Given the description of an element on the screen output the (x, y) to click on. 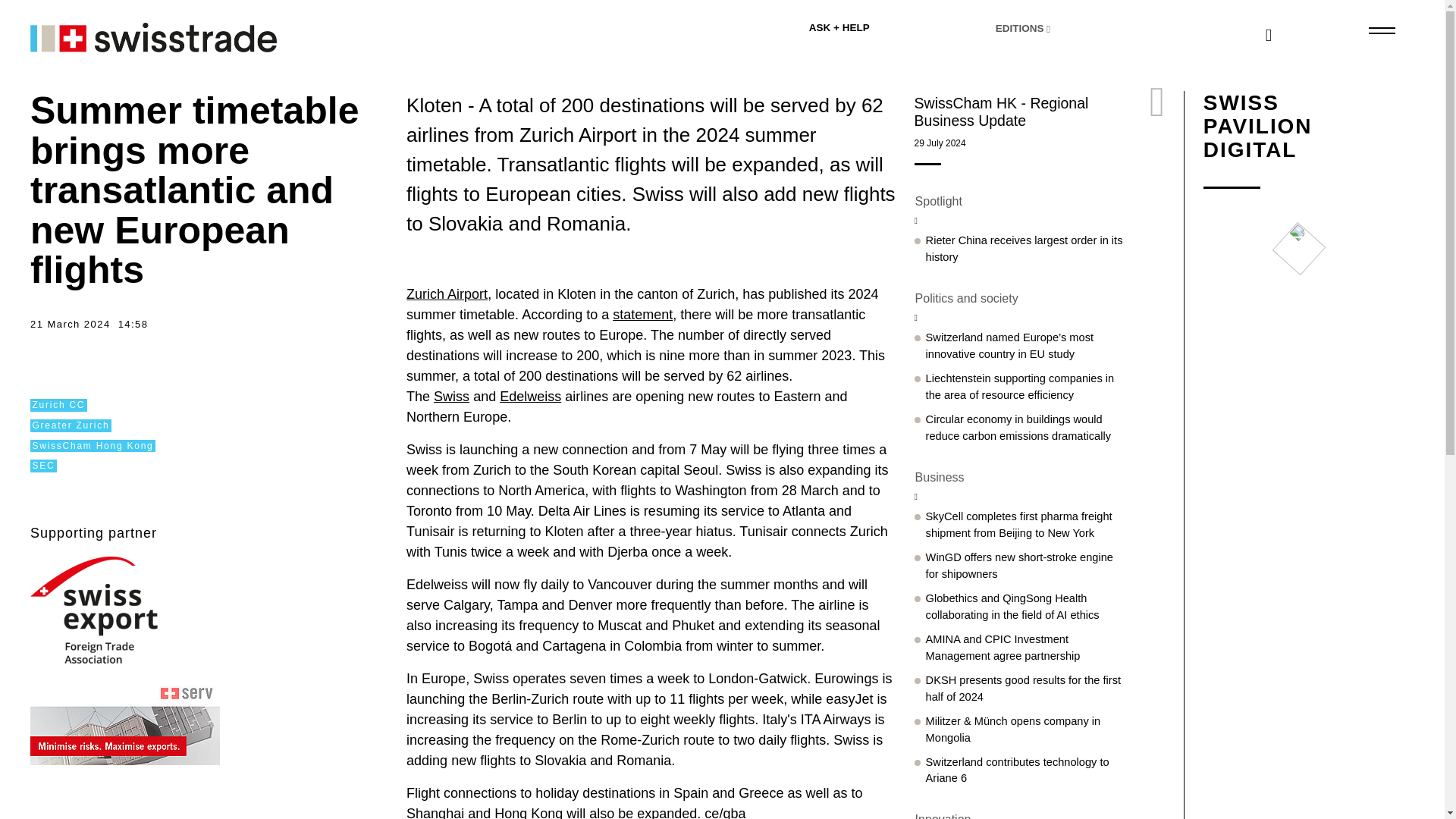
Zurich CC (58, 404)
Swiss Trade Logo (153, 37)
Menu (1379, 30)
SwissCham Hong Kong (92, 445)
Greater Zurich (71, 425)
Swiss Trade Logo (124, 35)
EDITIONS (1068, 28)
